Given the description of an element on the screen output the (x, y) to click on. 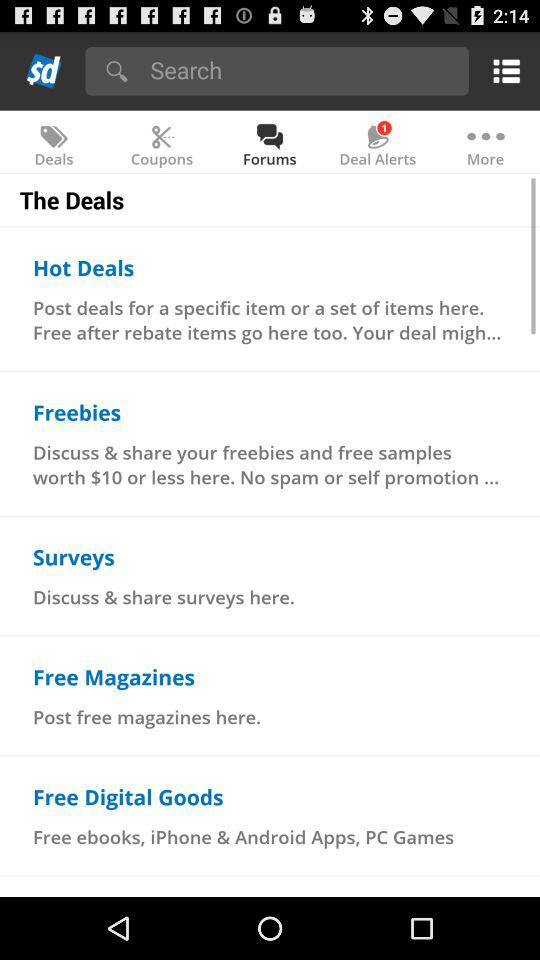
show options (502, 70)
